Given the description of an element on the screen output the (x, y) to click on. 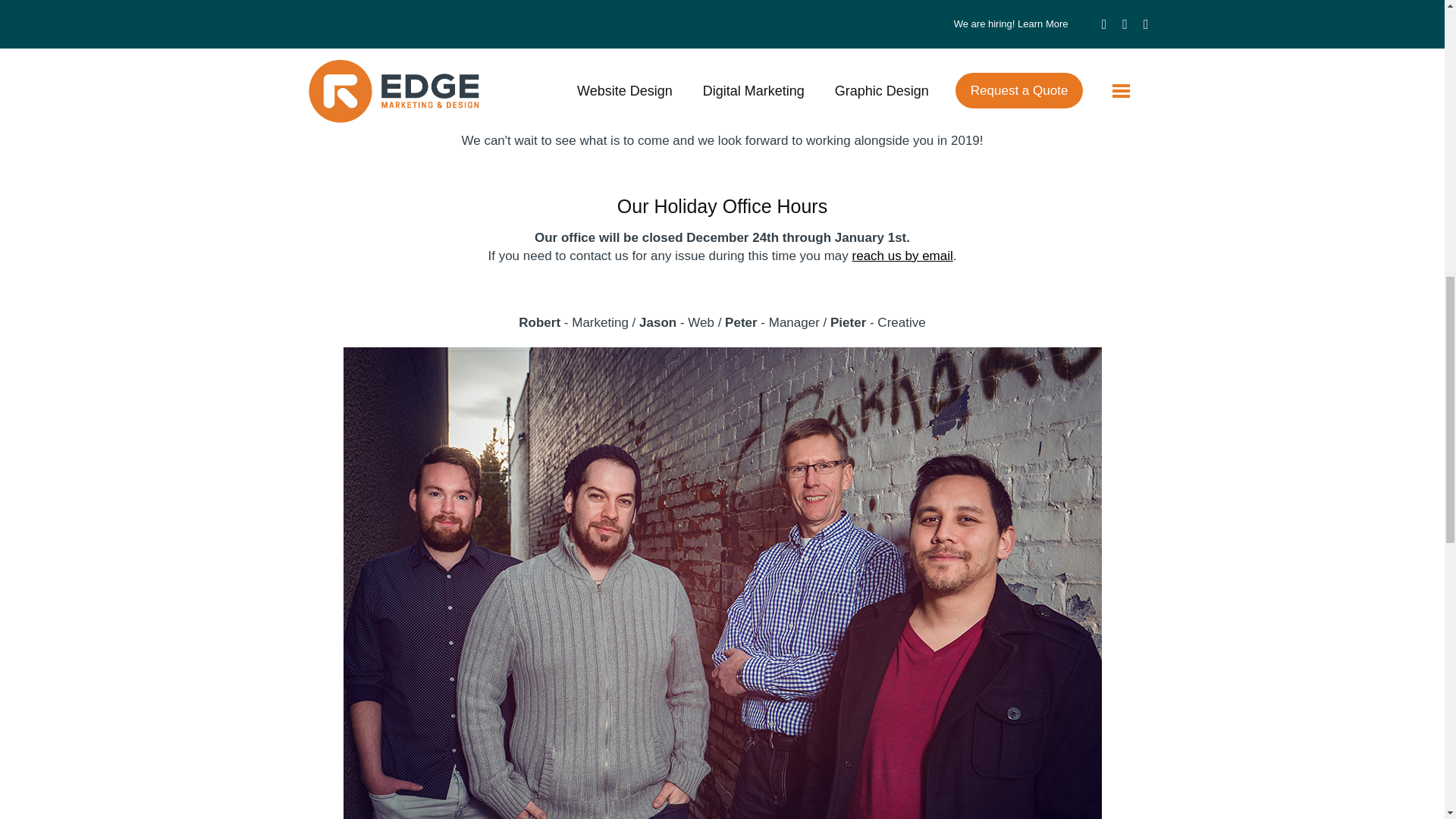
reach us by email (902, 255)
